Given the description of an element on the screen output the (x, y) to click on. 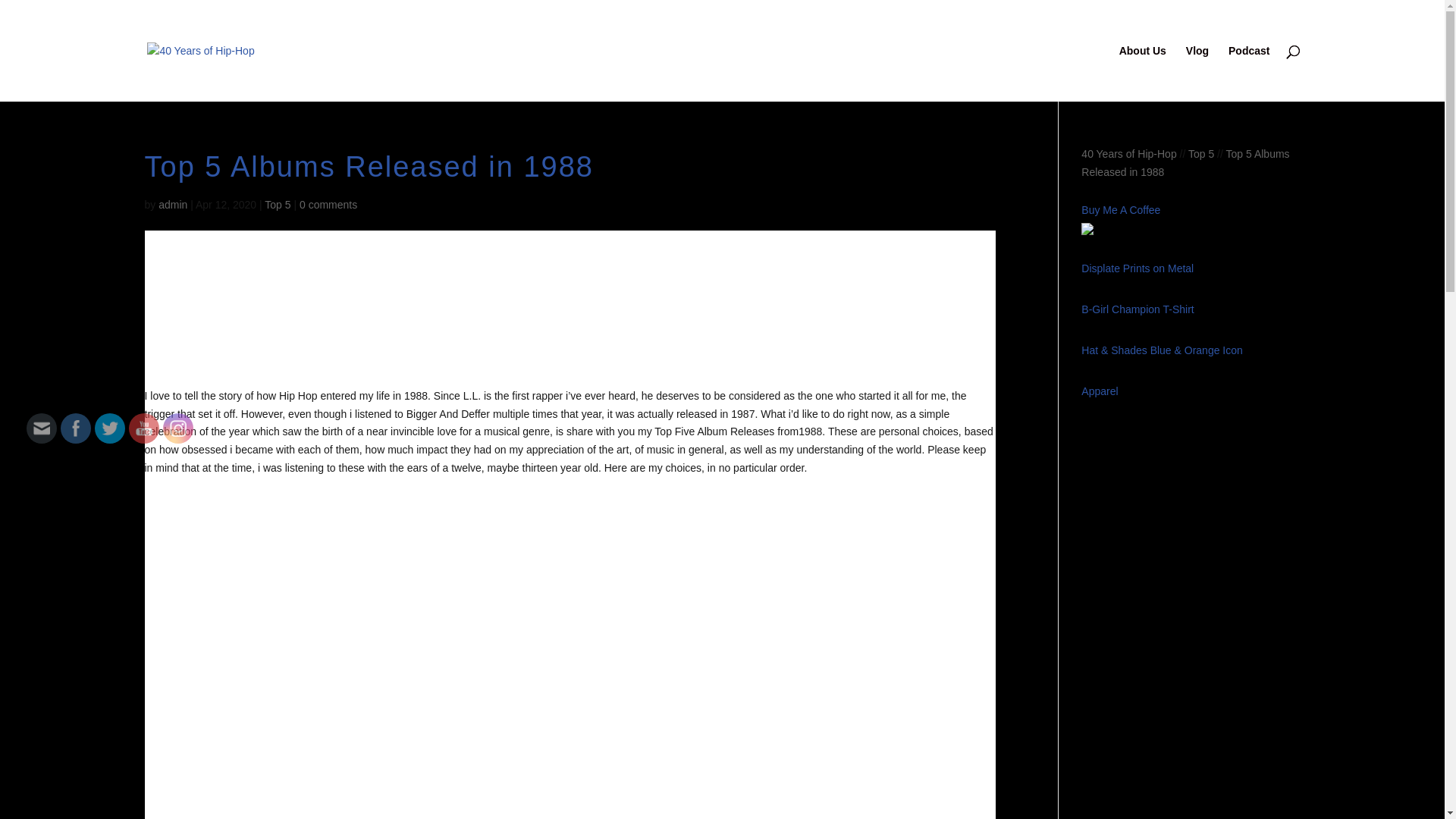
40 Years of Hip-Hop Element type: text (1128, 153)
Vlog Element type: text (1197, 73)
Follow by Email Element type: hover (41, 428)
About Us Element type: text (1142, 73)
Top 5 Element type: text (277, 204)
0 comments Element type: text (328, 204)
Top 5 Element type: text (1201, 153)
admin Element type: text (172, 204)
Podcast Element type: text (1248, 73)
Top 5 Albums Released in 1988 Element type: text (1185, 172)
